Given the description of an element on the screen output the (x, y) to click on. 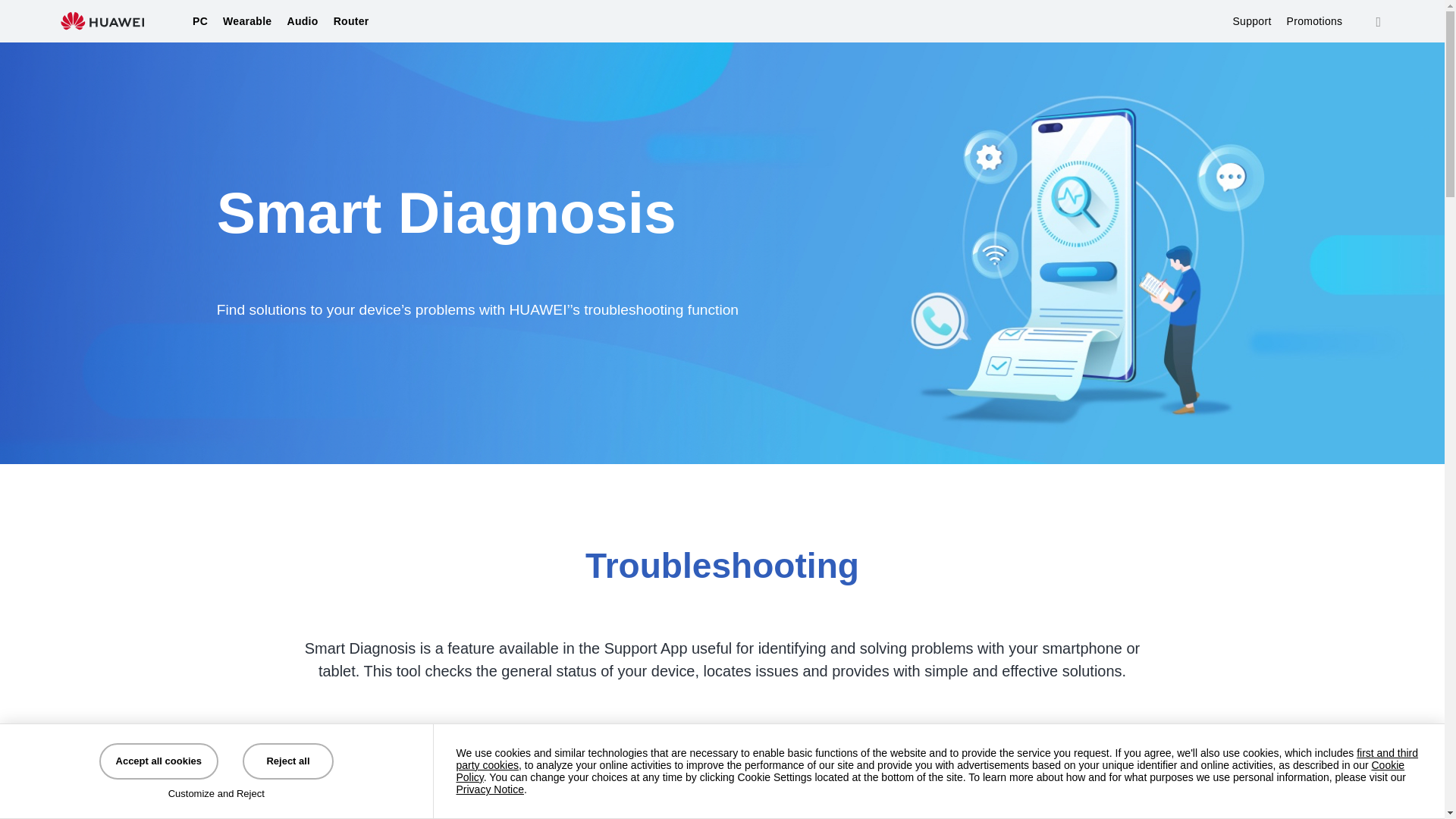
first and third party cookies (937, 758)
Support (1251, 21)
Promotions (1314, 21)
Wearable (246, 21)
Cookie Policy (931, 770)
Accept all cookies (158, 760)
Customize and Reject (215, 793)
Reject all (288, 760)
Privacy Notice (490, 788)
